Given the description of an element on the screen output the (x, y) to click on. 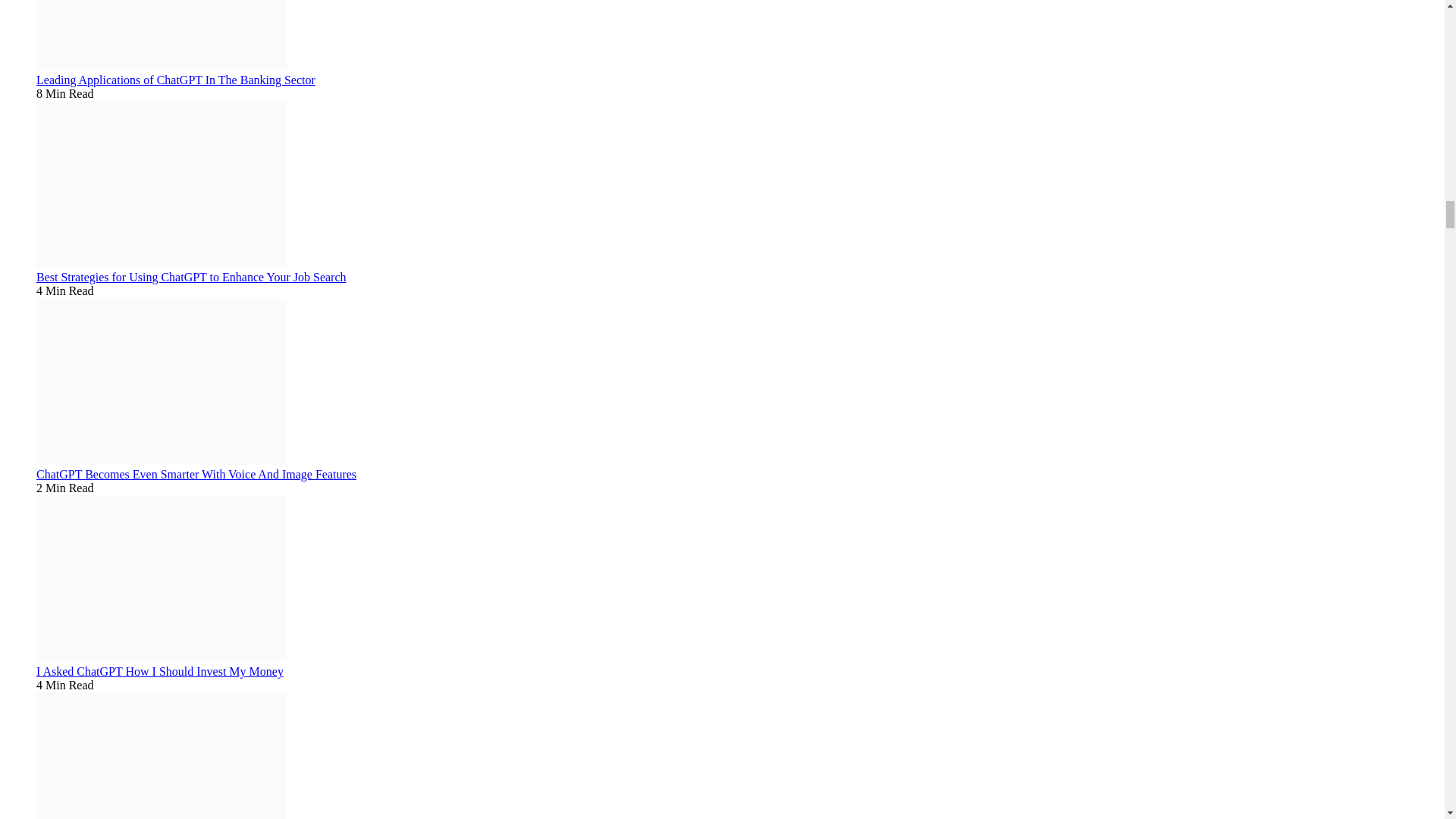
Leading Applications of ChatGPT In The Banking Sector (175, 79)
